Given the description of an element on the screen output the (x, y) to click on. 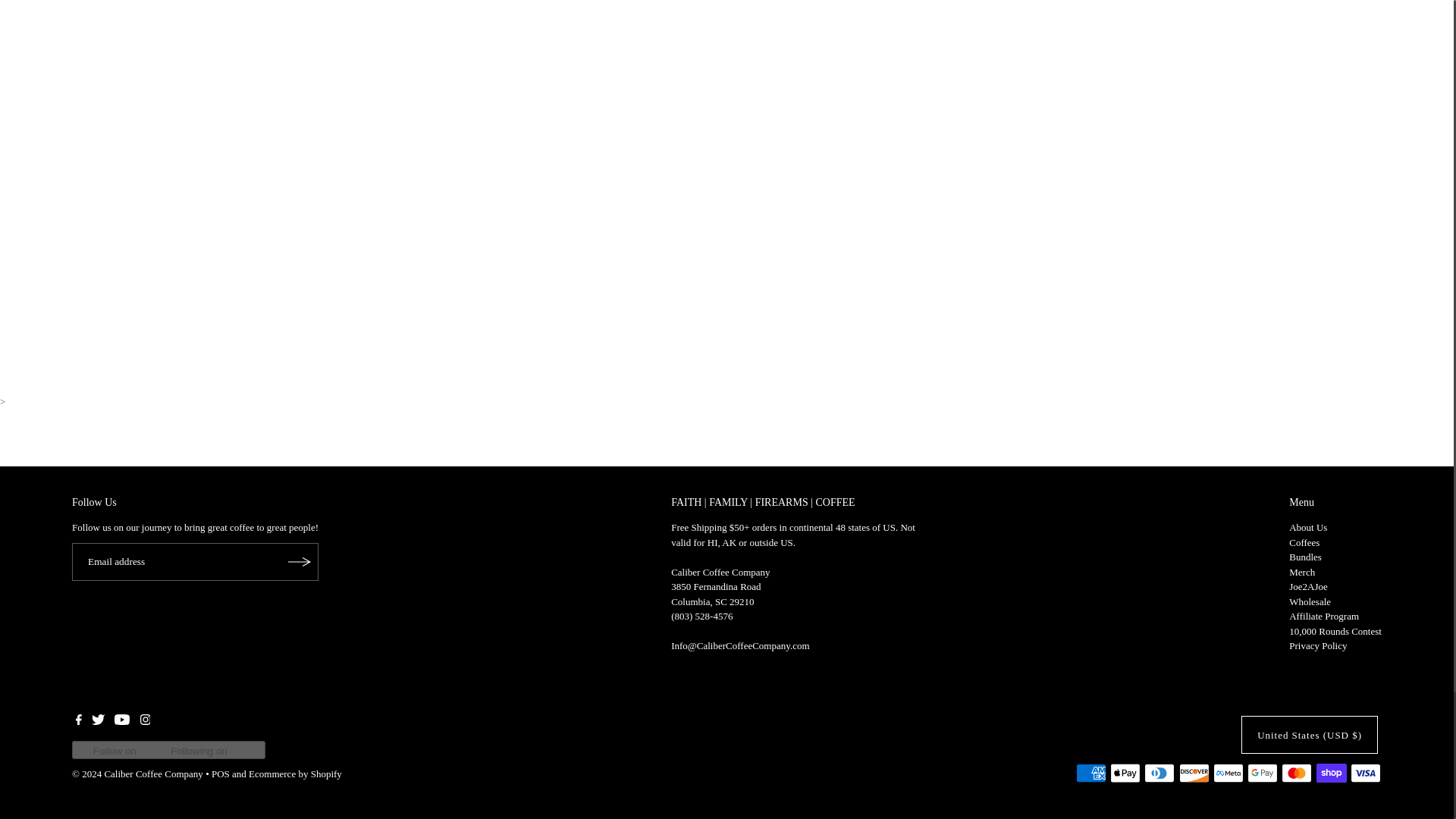
Mastercard (1296, 772)
Apple Pay (1124, 772)
American Express (1090, 772)
Google Pay (1262, 772)
Diners Club (1159, 772)
Meta Pay (1227, 772)
Discover (1194, 772)
